Given the description of an element on the screen output the (x, y) to click on. 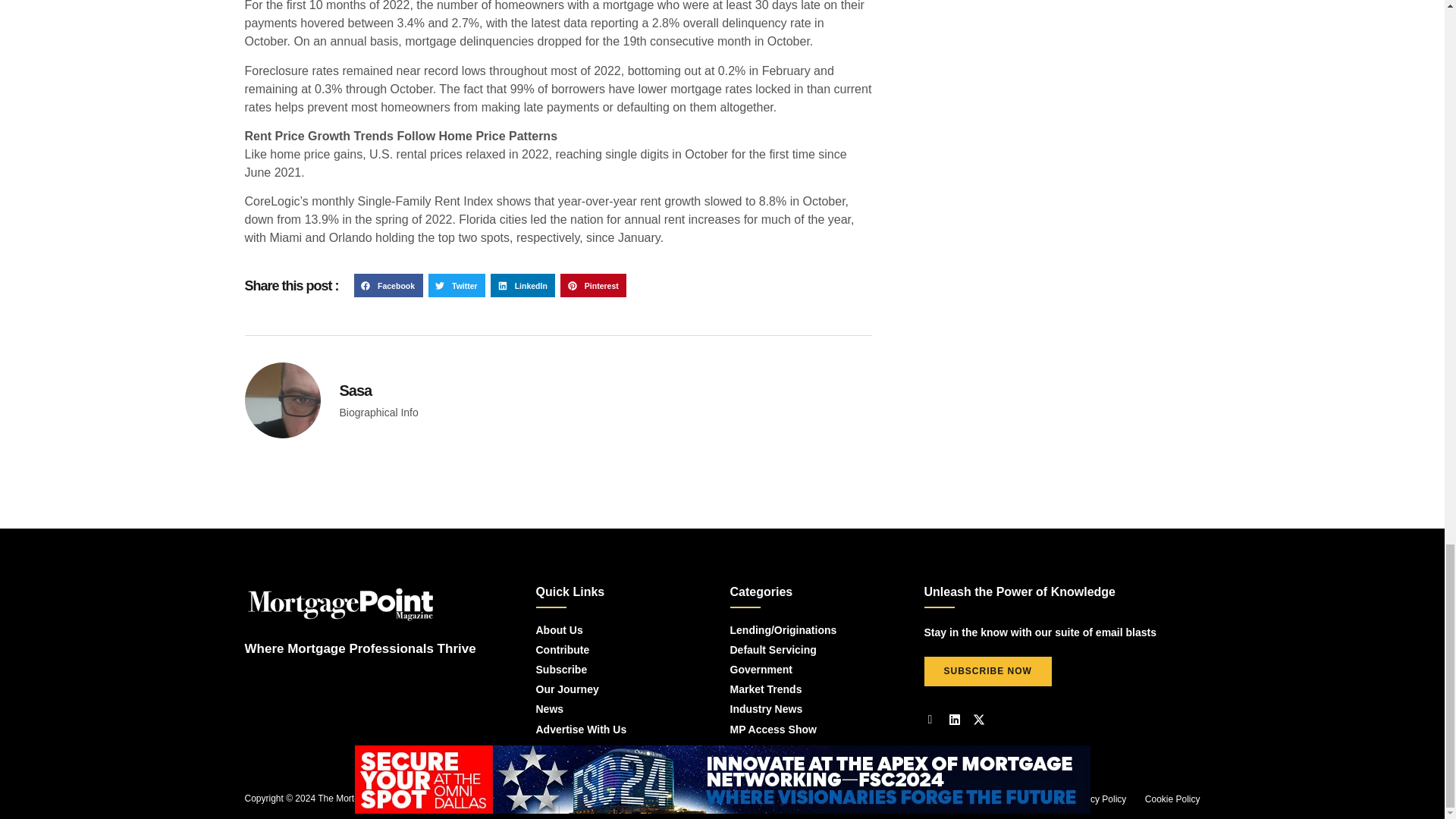
themp-logo-w - The MortgagePoint (339, 603)
